Given the description of an element on the screen output the (x, y) to click on. 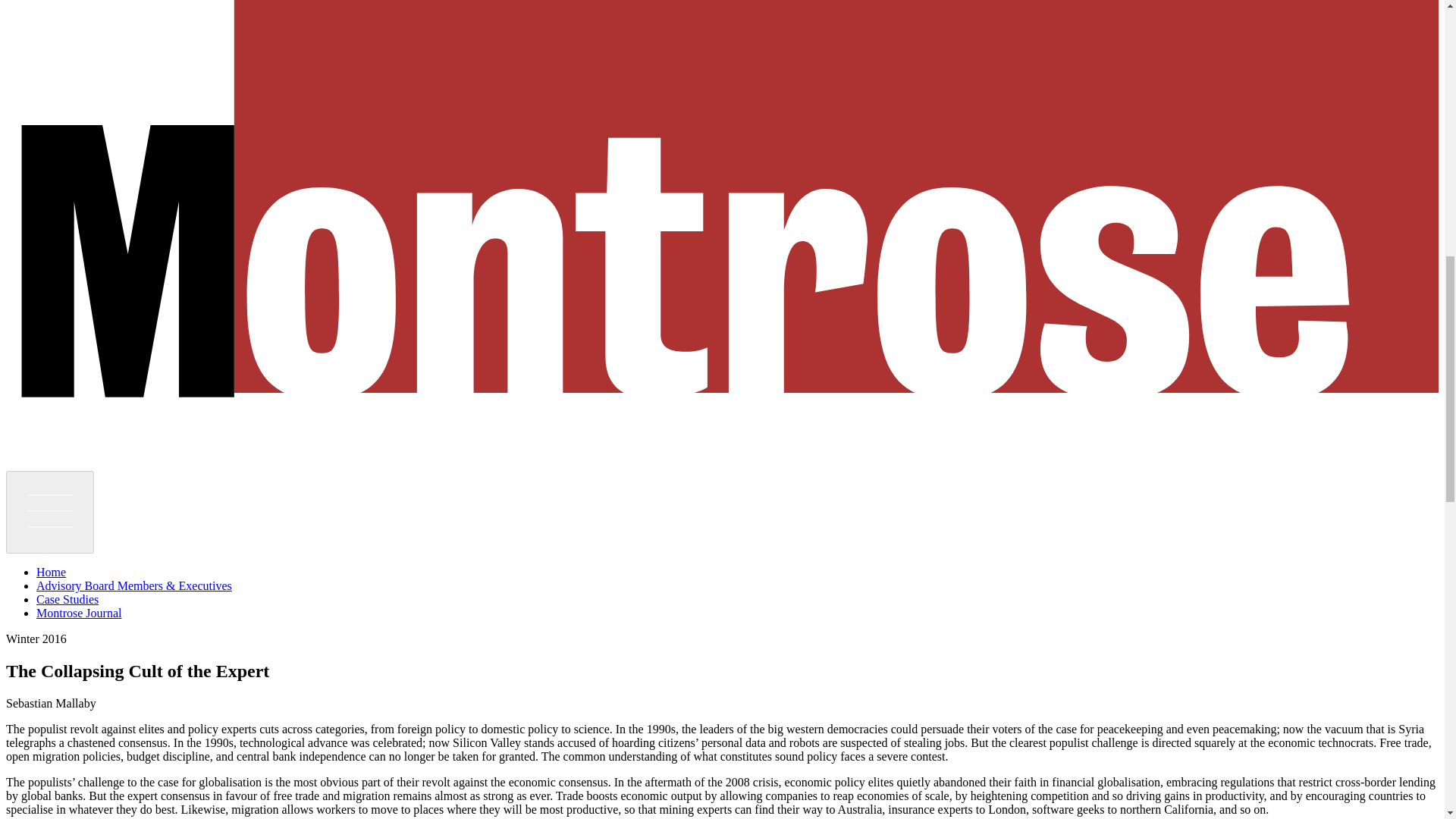
Home (50, 571)
Montrose Journal (78, 612)
Case Studies (67, 599)
